Given the description of an element on the screen output the (x, y) to click on. 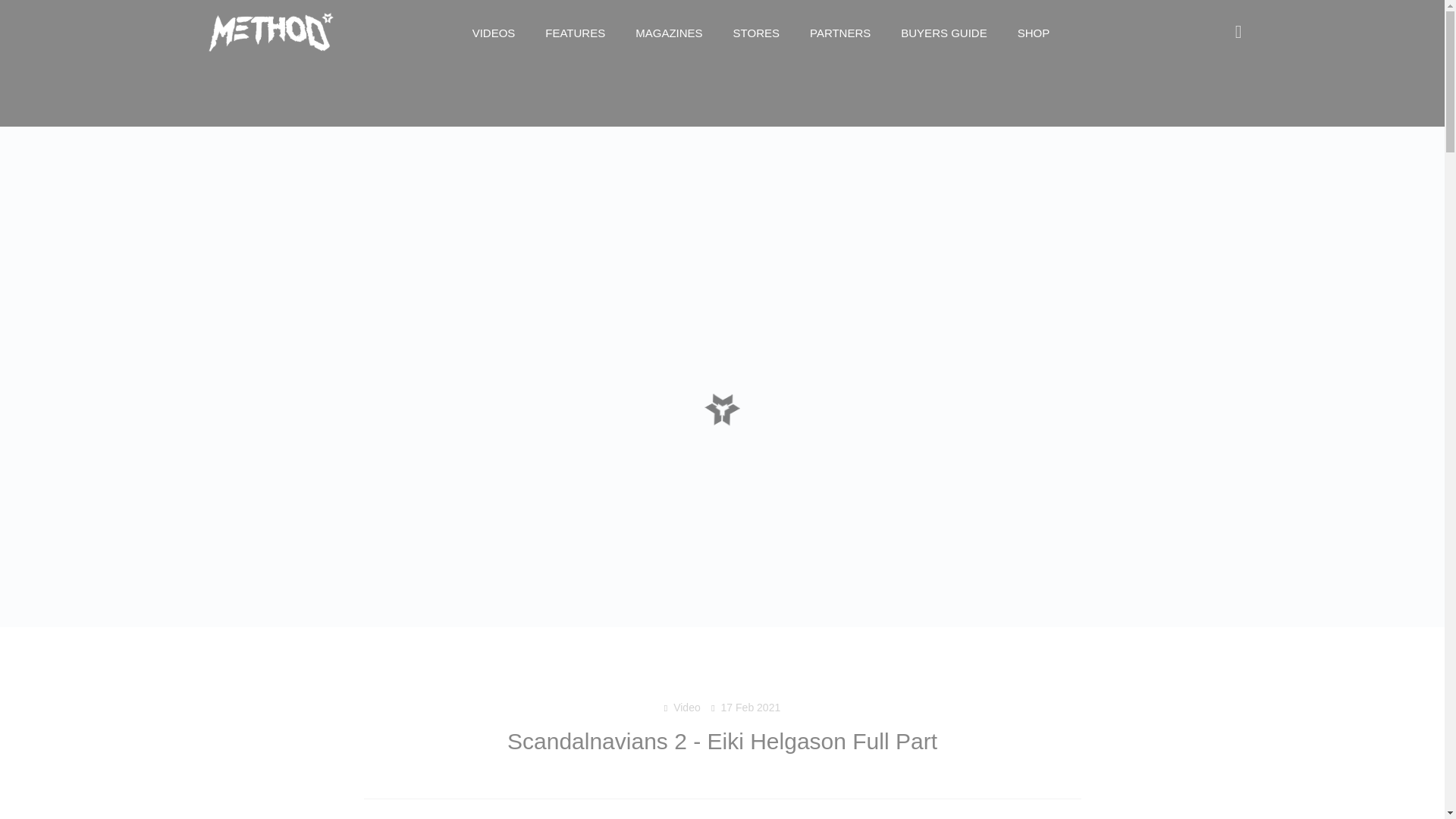
STORES (755, 33)
PARTNERS (839, 33)
BUYERS GUIDE (943, 33)
VIDEOS (494, 33)
FEATURES (574, 33)
MAGAZINES (668, 33)
Search (1230, 33)
SHOP (1034, 33)
